Given the description of an element on the screen output the (x, y) to click on. 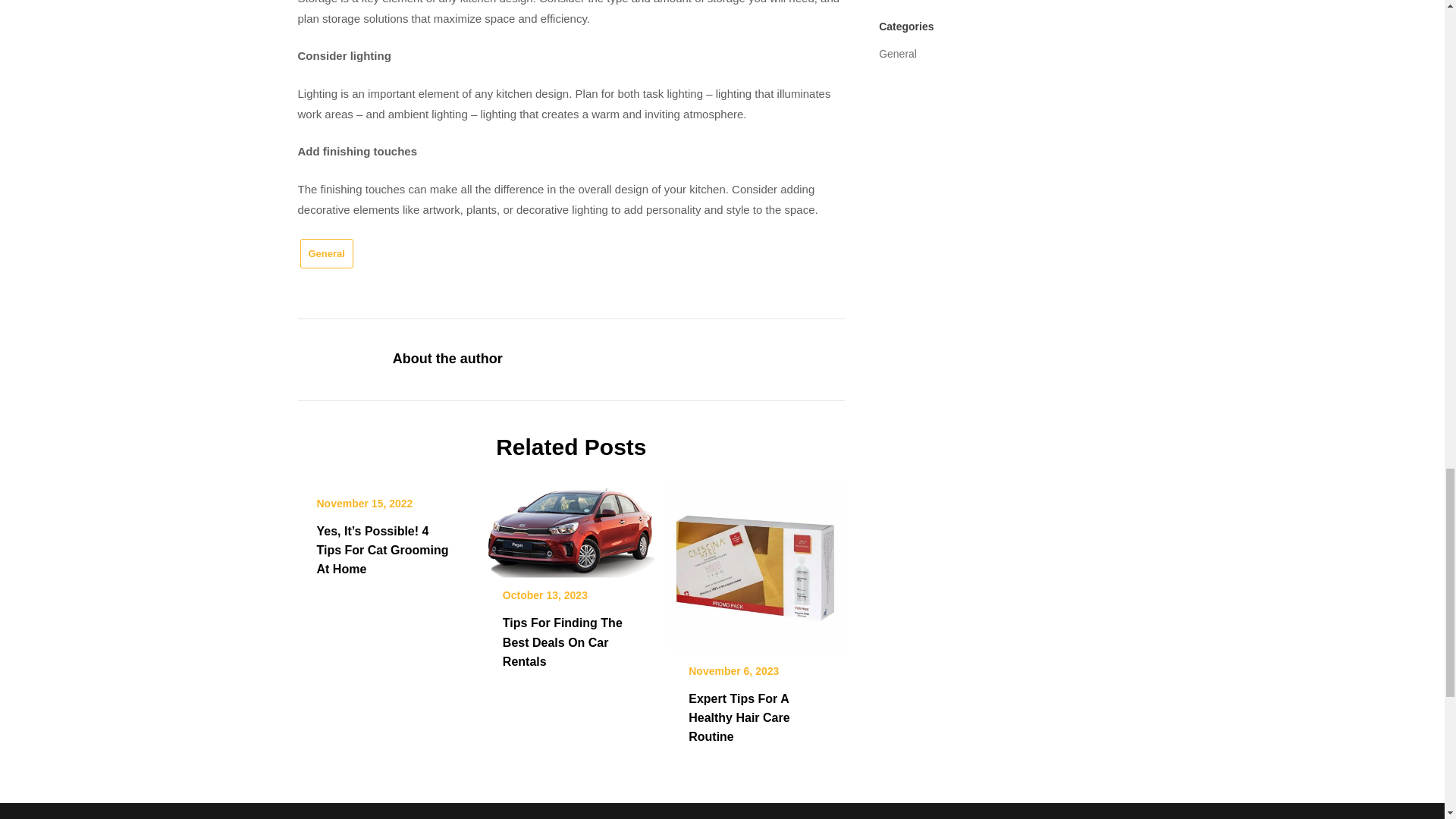
Expert Tips For A Healthy Hair Care Routine (756, 560)
Tips For Finding The Best Deals On Car Rentals (562, 641)
Tips For Finding The Best Deals On Car Rentals (571, 522)
Expert Tips For A Healthy Hair Care Routine (738, 717)
General (326, 253)
